Given the description of an element on the screen output the (x, y) to click on. 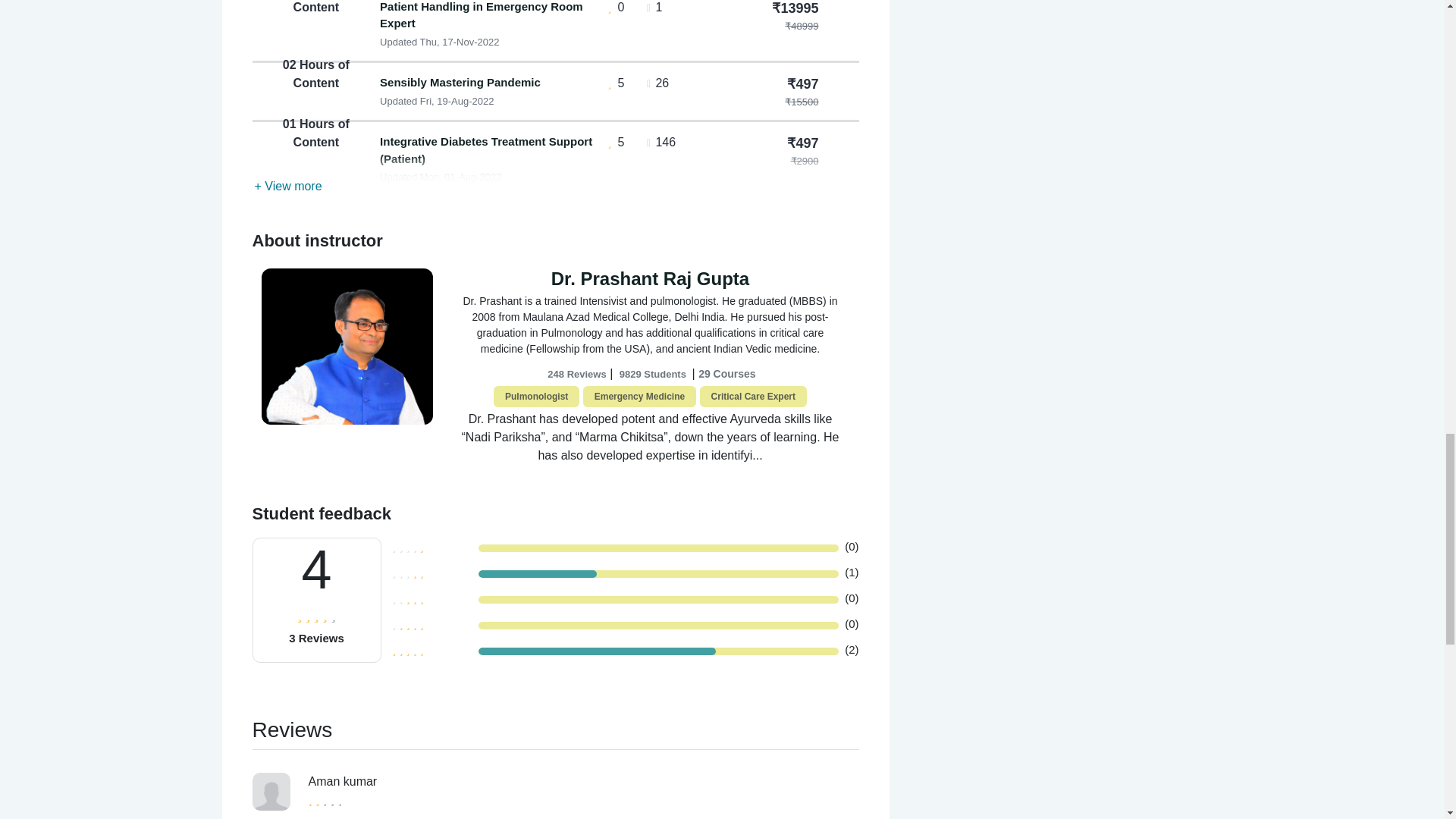
Dr. Prashant Raj Gupta (650, 278)
Patient Handling in Emergency Room Expert (487, 16)
Sensibly Mastering Pandemic (487, 82)
